Given the description of an element on the screen output the (x, y) to click on. 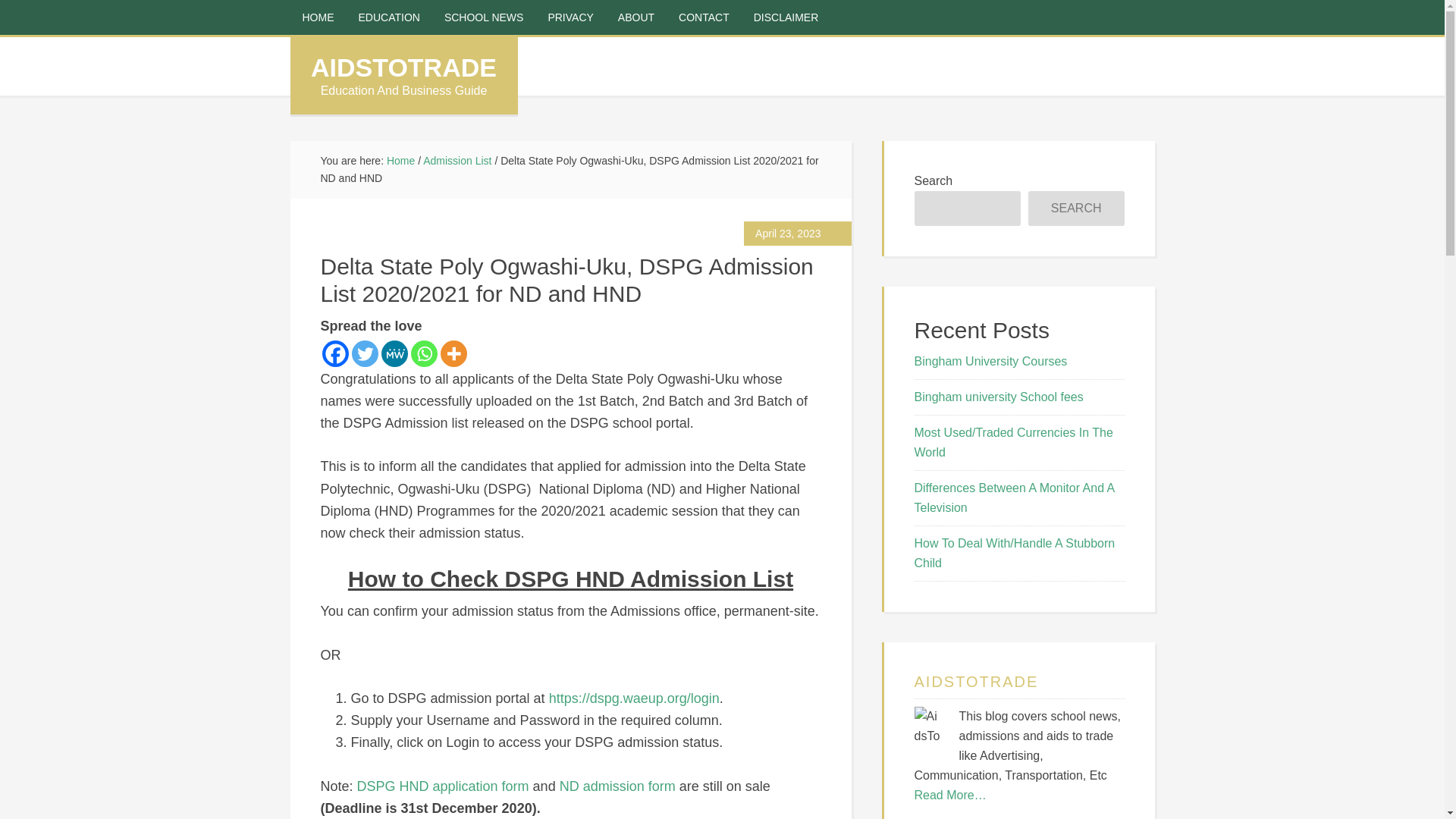
ND admission form (619, 785)
AIDSTOTRADE (403, 67)
DSPG HND application form (442, 785)
EDUCATION (388, 17)
DISCLAIMER (786, 17)
Admission List (457, 160)
Whatsapp (424, 352)
Home (400, 160)
SCHOOL NEWS (483, 17)
PRIVACY (570, 17)
Twitter (365, 352)
HOME (317, 17)
Facebook (334, 352)
CONTACT (703, 17)
MeWe (393, 352)
